Given the description of an element on the screen output the (x, y) to click on. 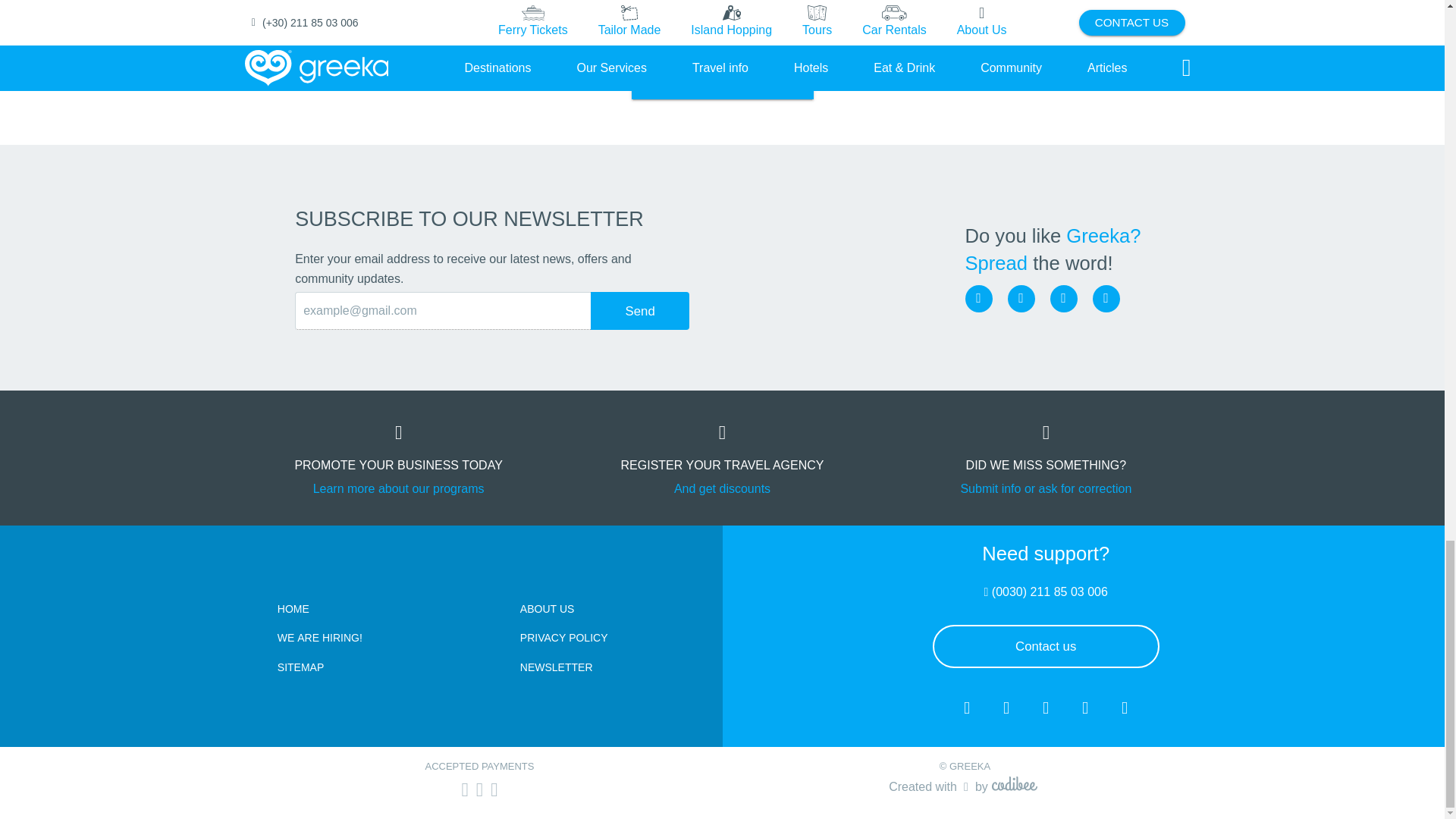
Send (639, 310)
